Given the description of an element on the screen output the (x, y) to click on. 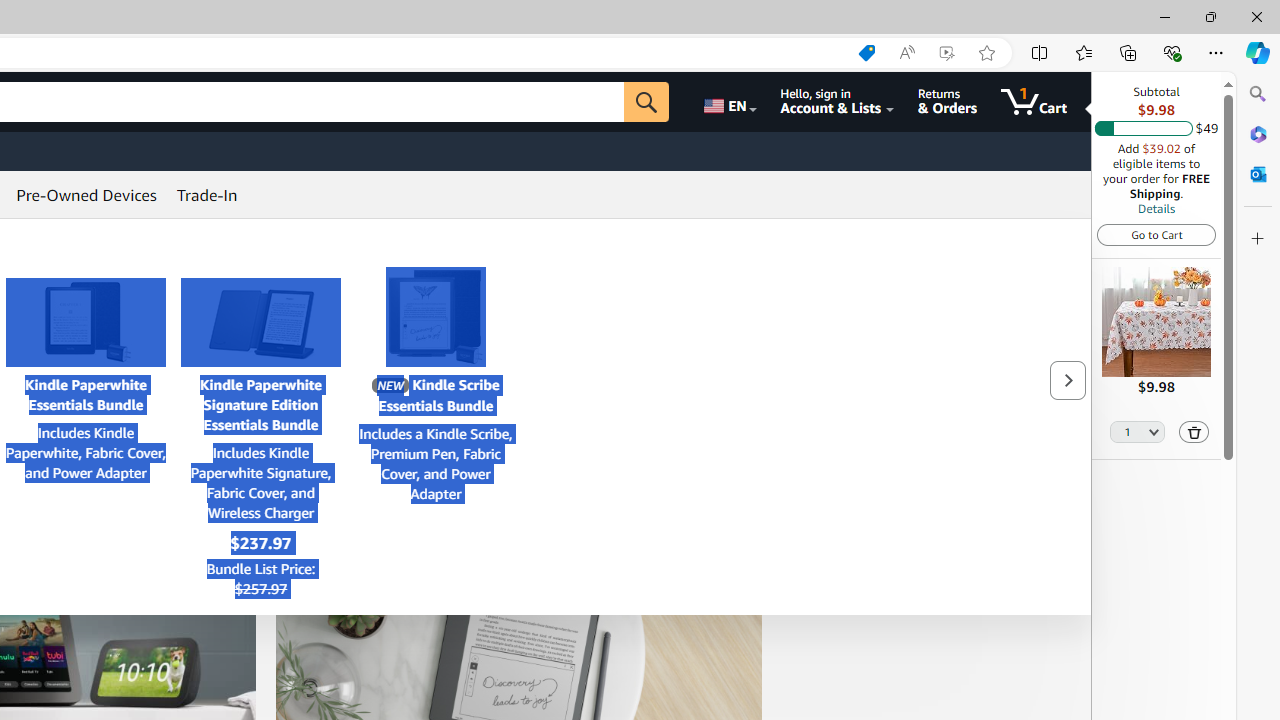
Outlook (1258, 174)
Kindle Scribe Essentials Bundle (436, 317)
Delete (1193, 431)
Enhance video (946, 53)
